Given the description of an element on the screen output the (x, y) to click on. 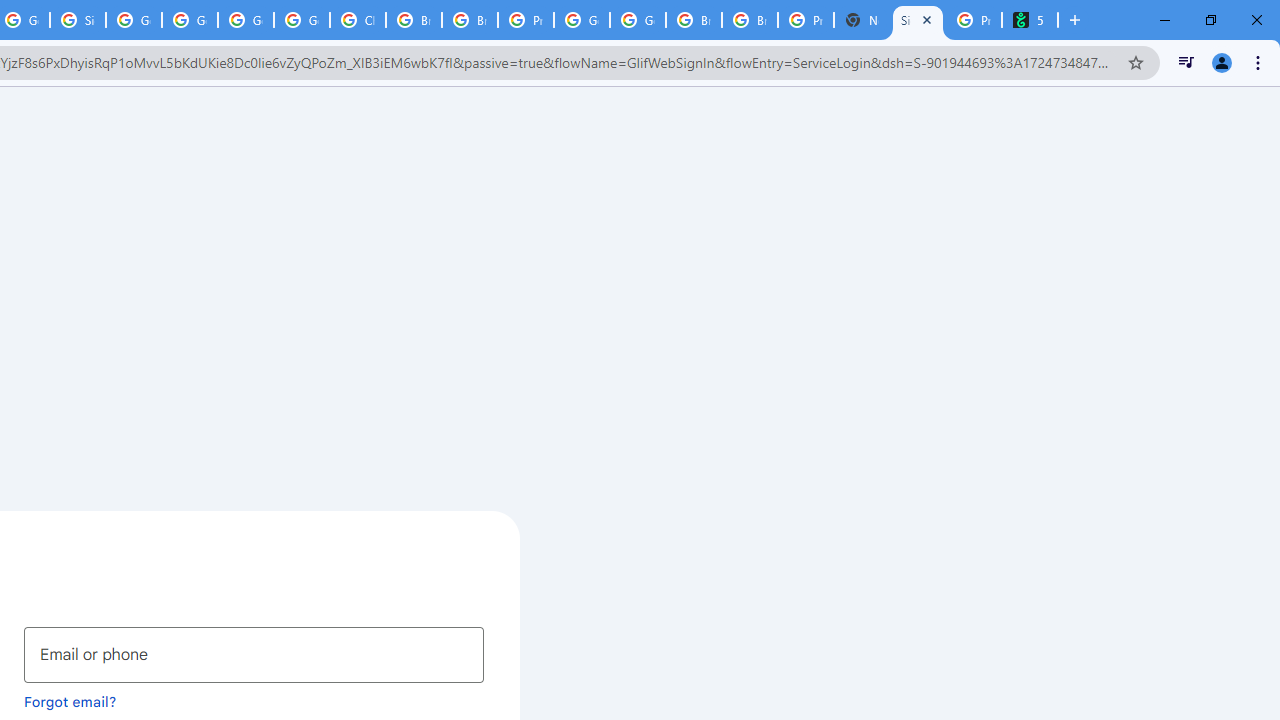
Google Cloud Platform (637, 20)
Sign in - Google Accounts (917, 20)
